Given the description of an element on the screen output the (x, y) to click on. 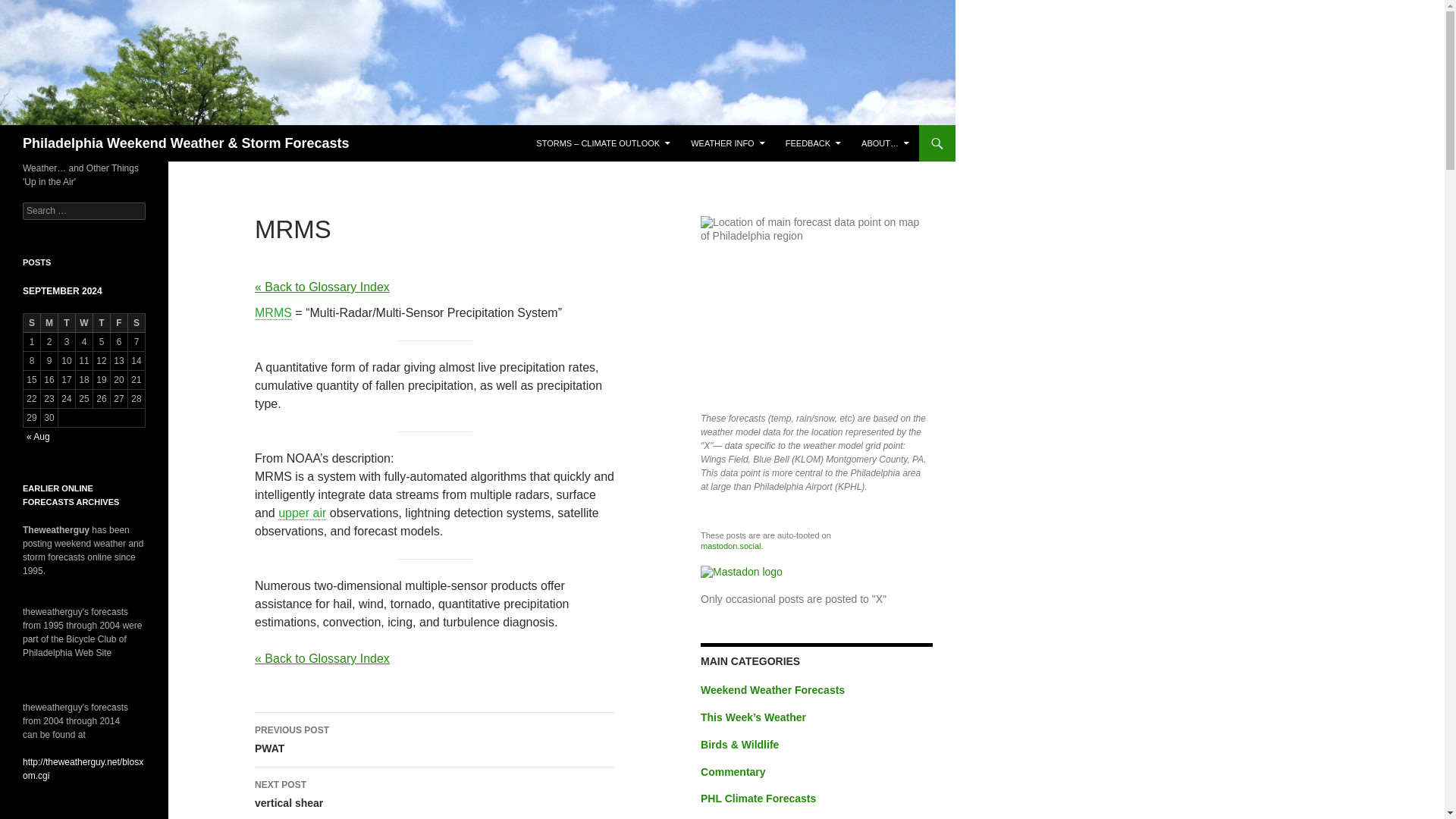
Friday (119, 322)
Monday (49, 322)
PHL Climate Forecasts (757, 798)
Saturday (136, 322)
MRMS (434, 793)
FEEDBACK (434, 739)
Wednesday (273, 313)
mastodon.social. (813, 143)
